Given the description of an element on the screen output the (x, y) to click on. 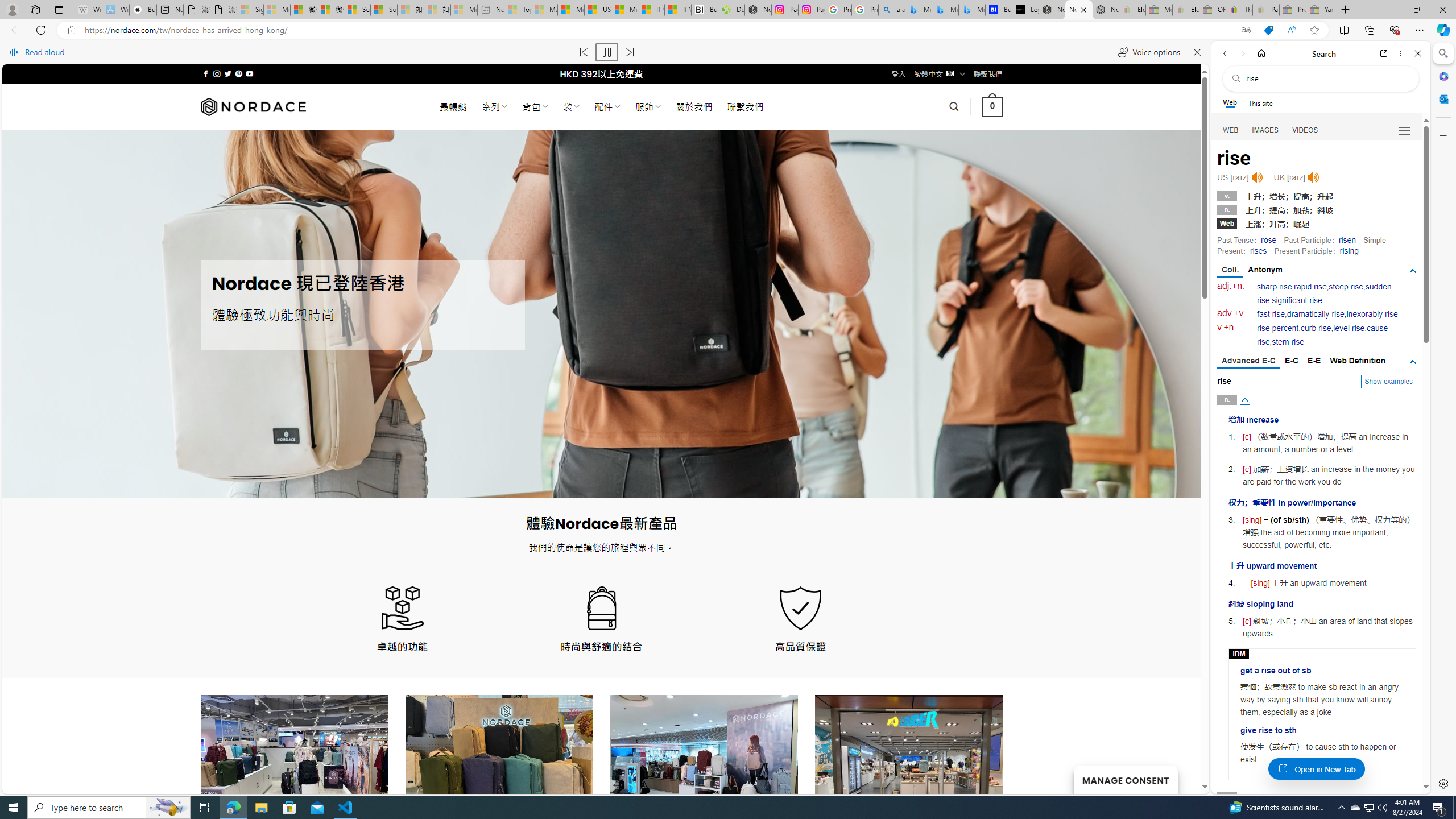
dramatically rise (1315, 313)
rise percent (1277, 328)
Microsoft Bing Travel - Shangri-La Hotel Bangkok (971, 9)
Follow on Twitter (227, 74)
